Given the description of an element on the screen output the (x, y) to click on. 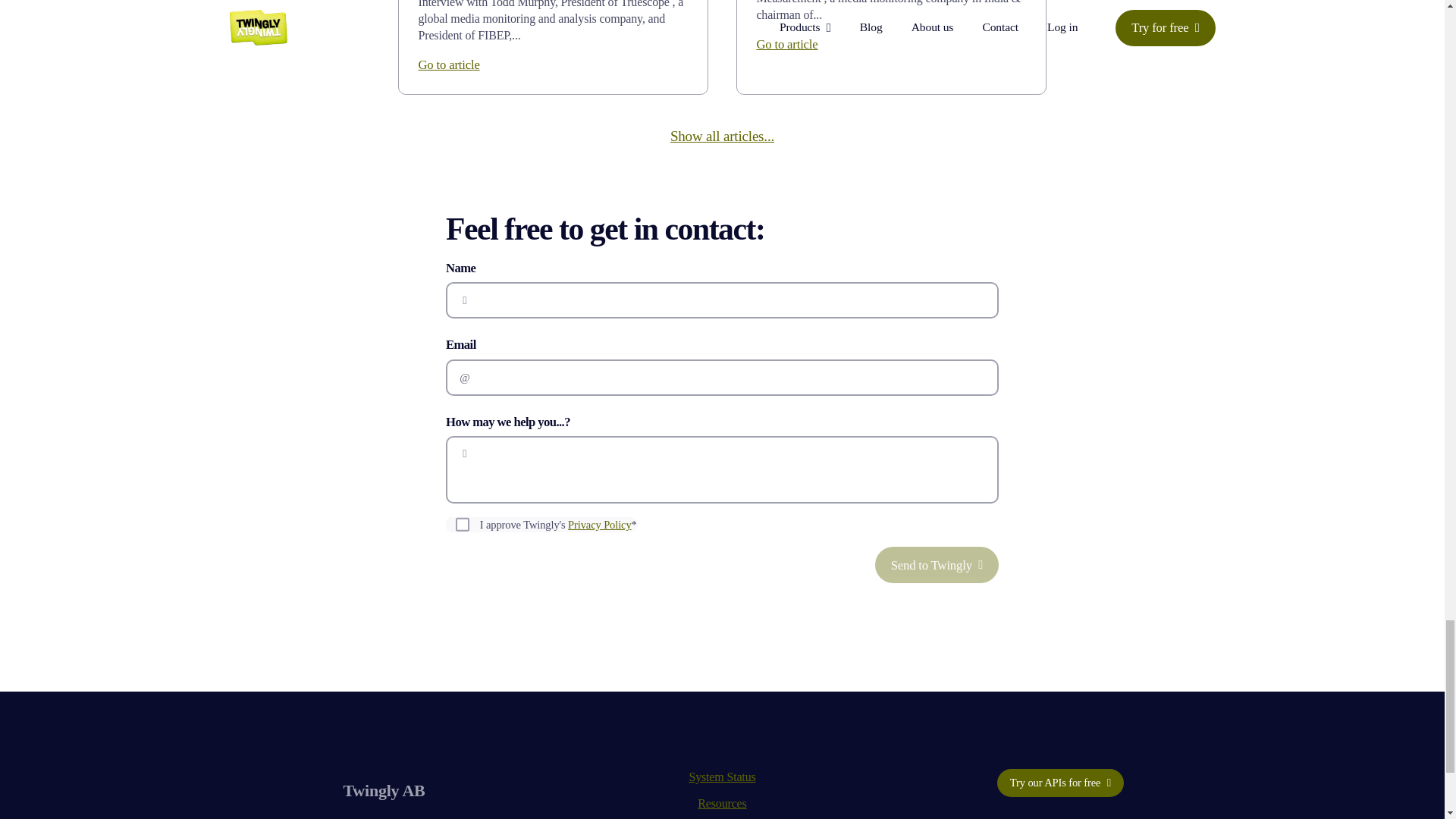
Go to article (785, 43)
Show all articles... (721, 135)
Privacy Policy (598, 524)
Go to article (448, 64)
